Given the description of an element on the screen output the (x, y) to click on. 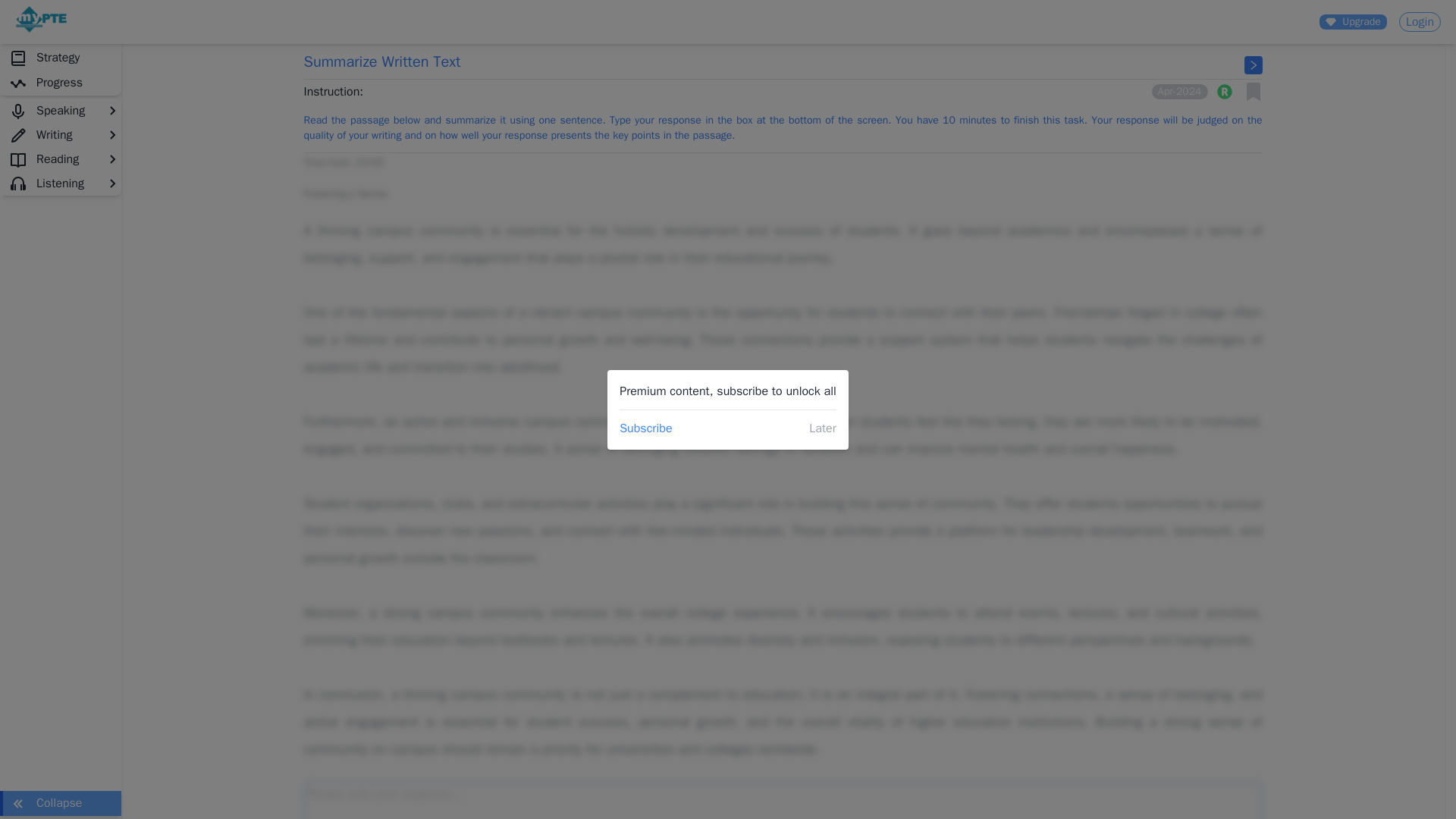
Later (822, 427)
Progress (60, 82)
Listening (60, 183)
Strategy (60, 57)
Go to home page (41, 28)
Subscribe (645, 427)
Writing (60, 135)
Speaking (60, 110)
Reading (60, 159)
